Given the description of an element on the screen output the (x, y) to click on. 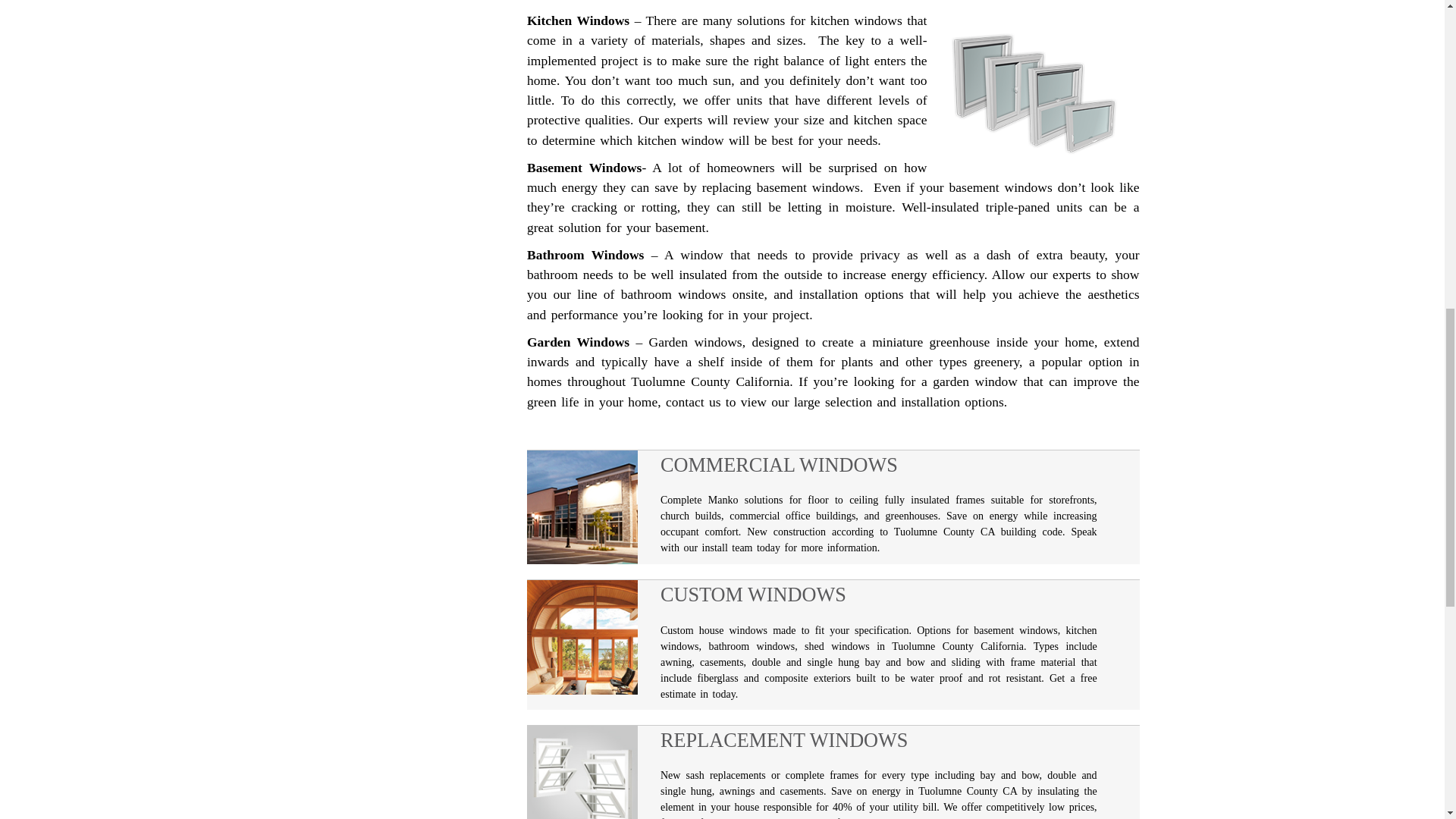
CUSTOM WINDOWS (879, 596)
COMMERCIAL WINDOWS (879, 467)
REPLACEMENT WINDOWS (879, 742)
